Given the description of an element on the screen output the (x, y) to click on. 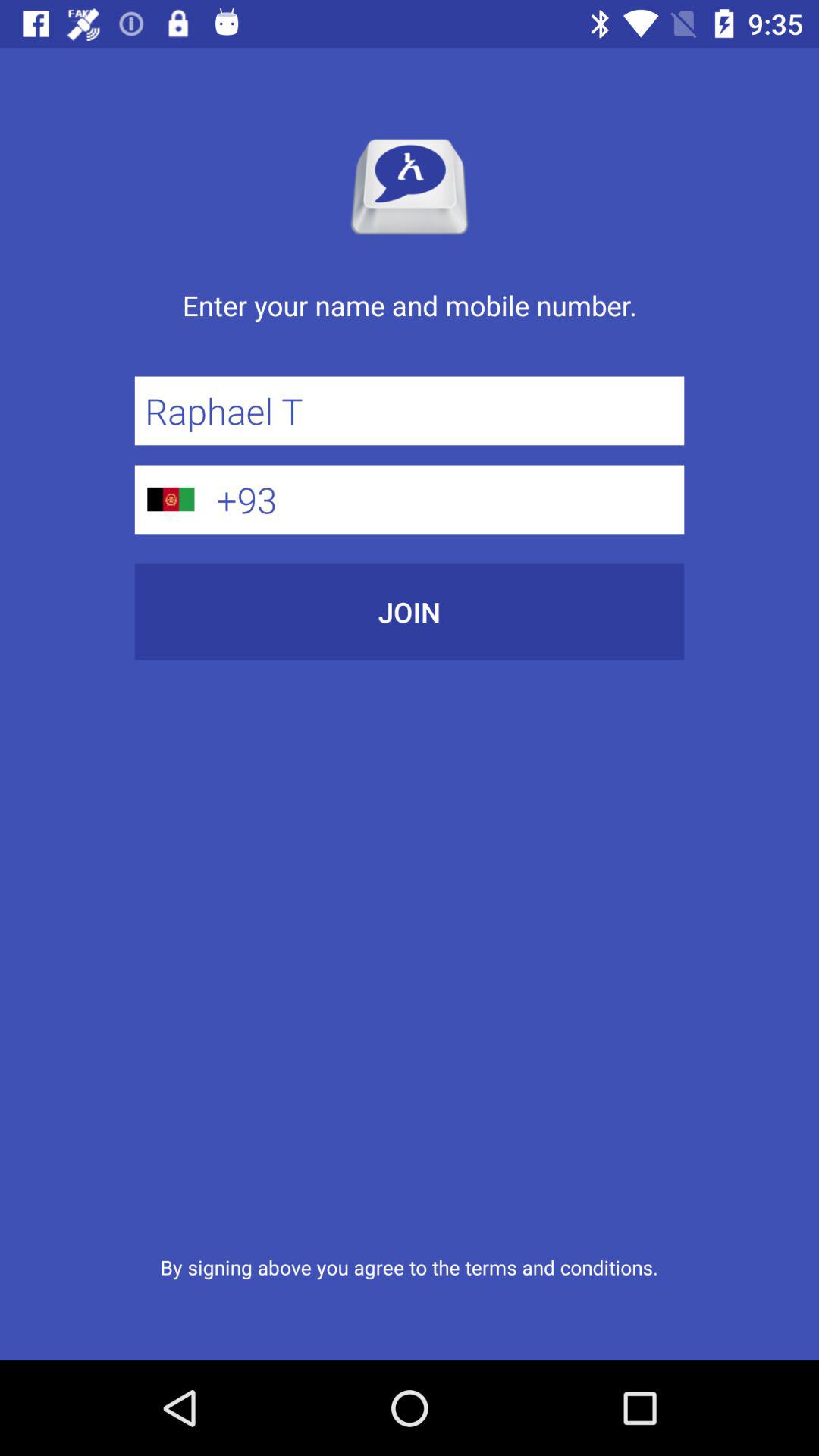
select the icon above join icon (445, 499)
